Given the description of an element on the screen output the (x, y) to click on. 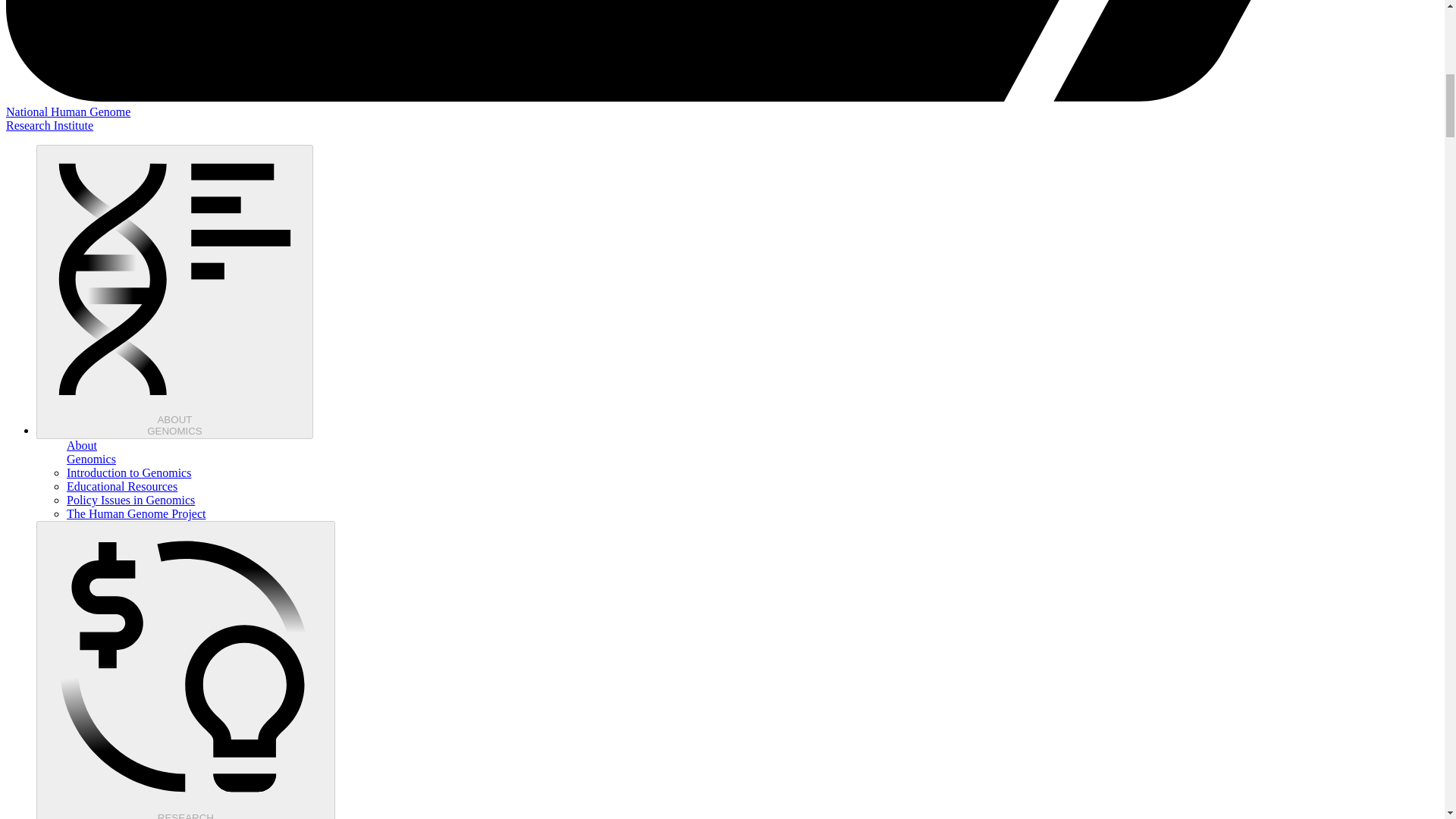
Introduction to Genomics (128, 472)
Policy Issues in Genomics (185, 669)
Educational Resources (130, 499)
The Human Genome Project (121, 486)
